Given the description of an element on the screen output the (x, y) to click on. 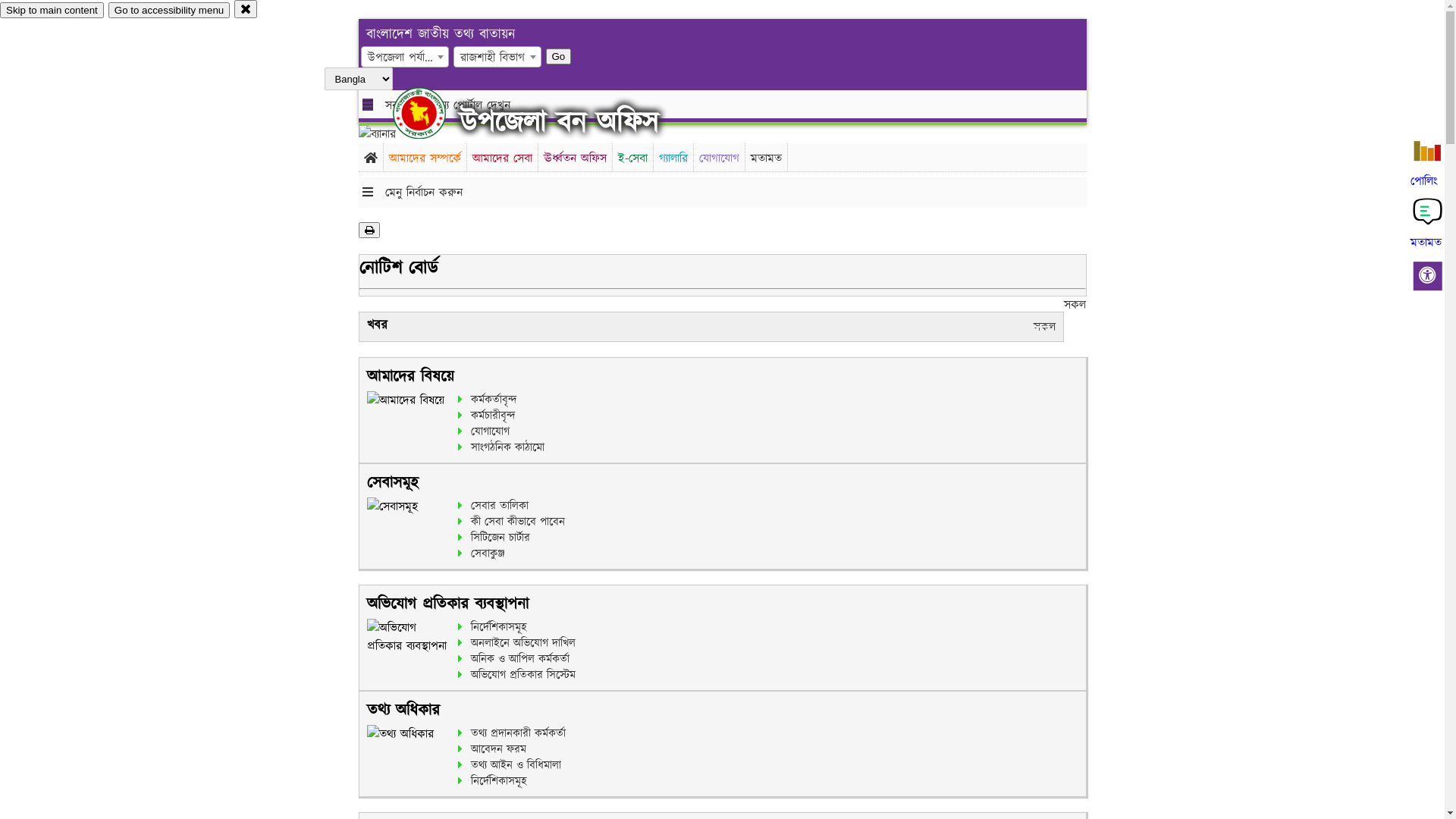
close Element type: hover (245, 9)

                
             Element type: hover (431, 112)
Go to accessibility menu Element type: text (168, 10)
Go Element type: text (558, 56)
Skip to main content Element type: text (51, 10)
